Given the description of an element on the screen output the (x, y) to click on. 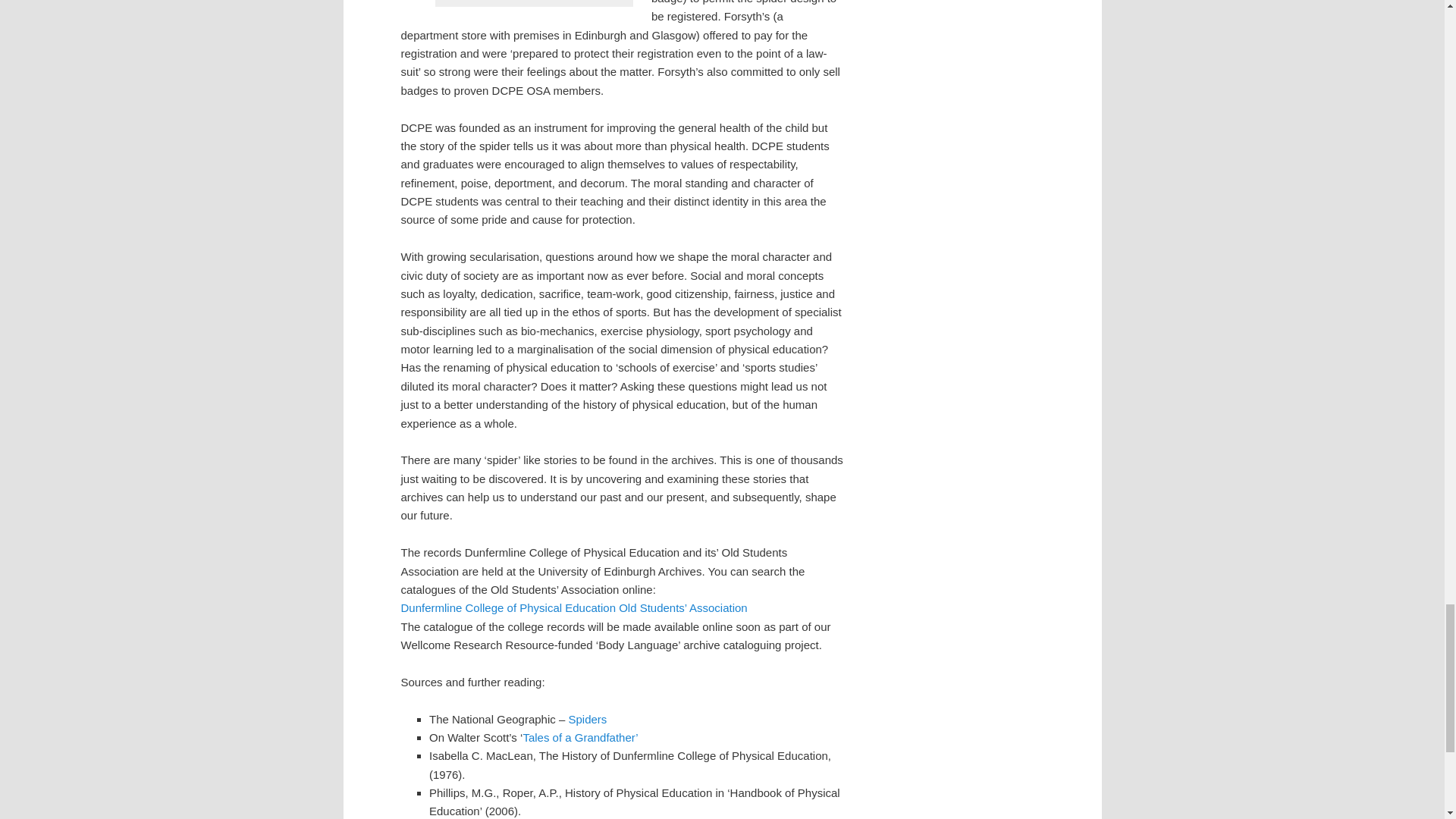
Spiders (587, 718)
